Given the description of an element on the screen output the (x, y) to click on. 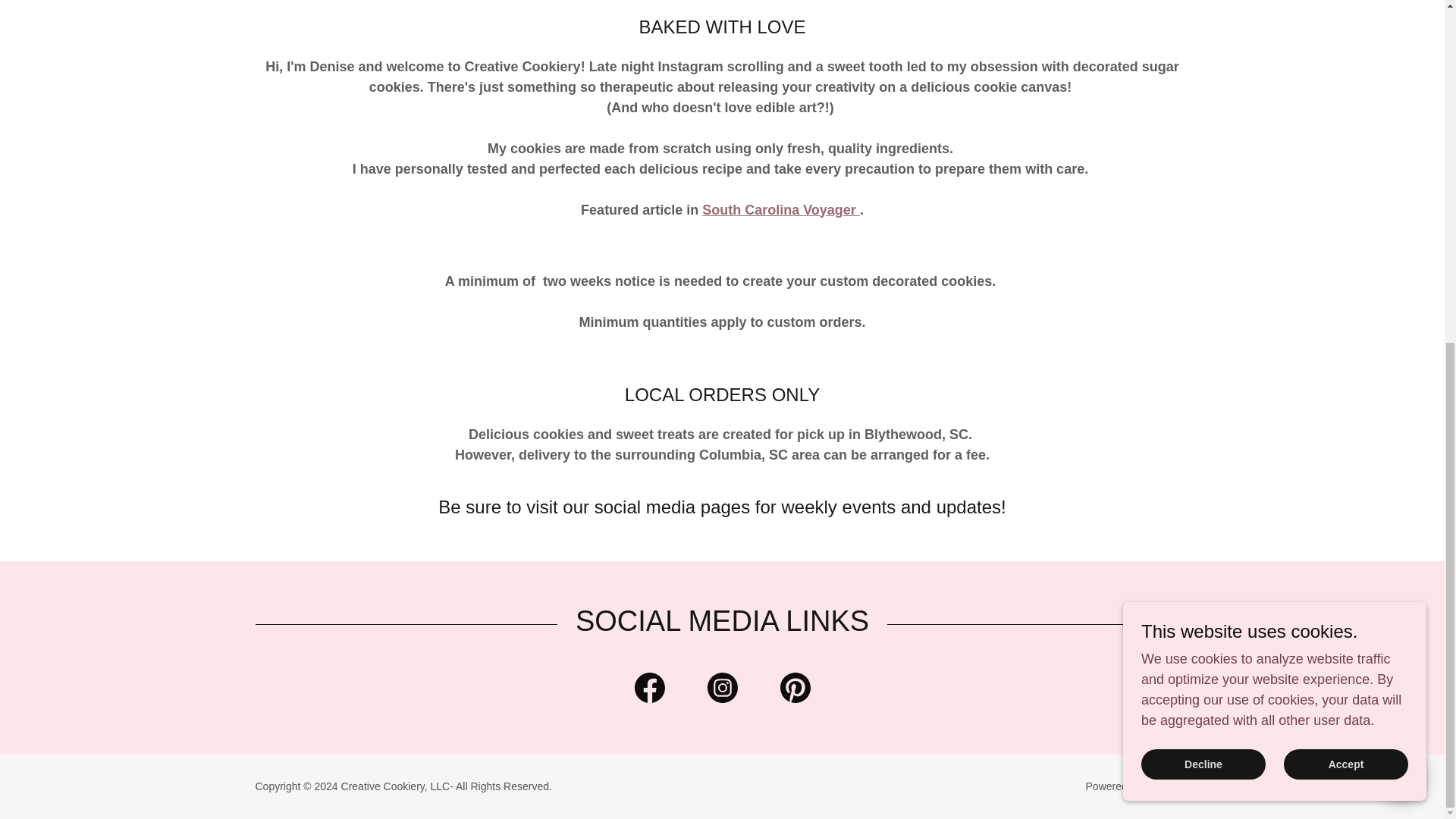
GoDaddy (1166, 786)
South Carolina Voyager (780, 209)
Decline (1203, 179)
Accept (1345, 179)
